Given the description of an element on the screen output the (x, y) to click on. 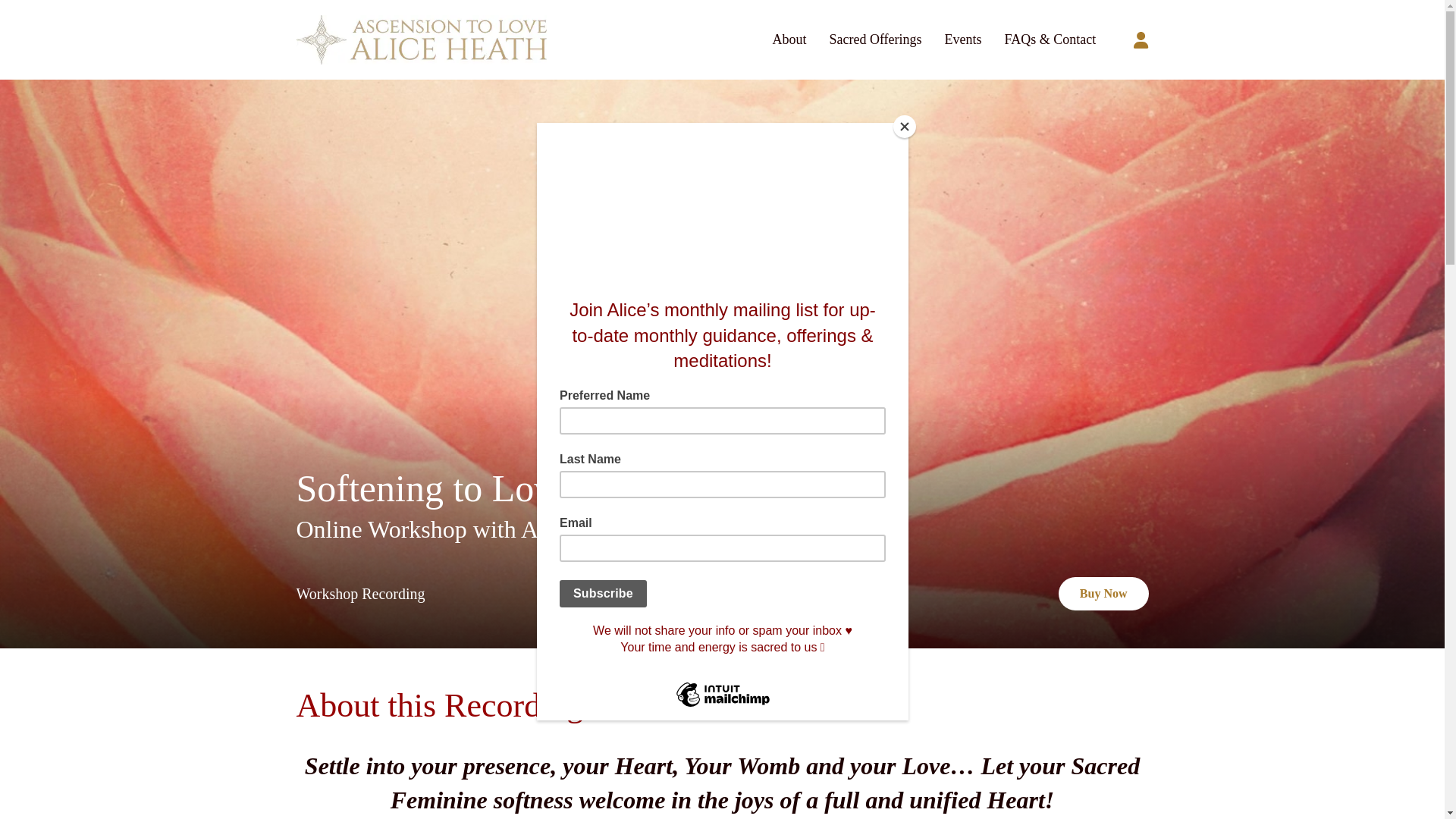
Sacred Offerings (874, 39)
Buy Now (1103, 593)
Events (962, 39)
About (788, 39)
